Given the description of an element on the screen output the (x, y) to click on. 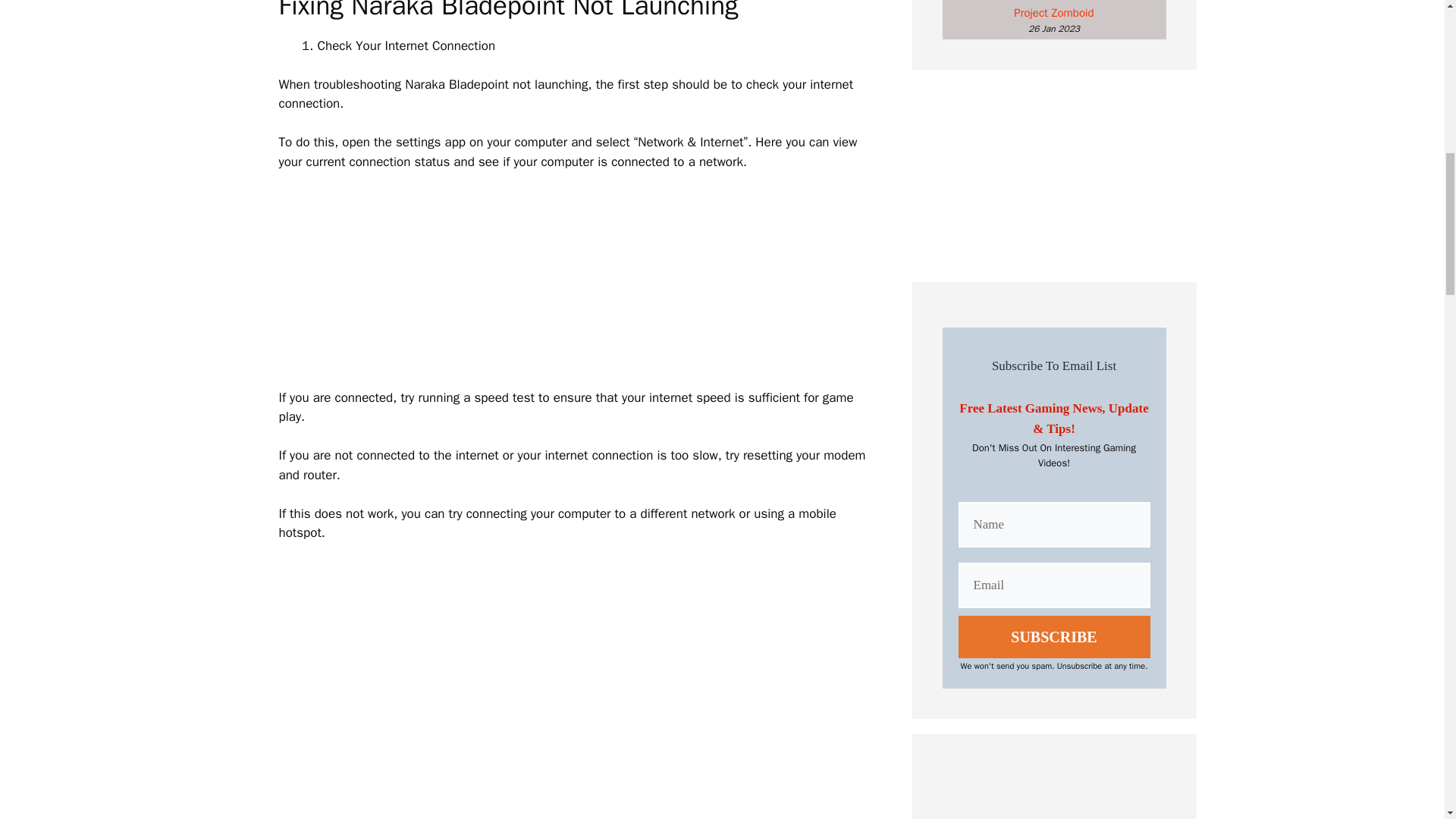
SUBSCRIBE (1054, 636)
4 Solutions For Full Screen Problem In Project Zomboid (1054, 9)
4 Solutions For Full Screen Problem In Project Zomboid (1054, 9)
